Given the description of an element on the screen output the (x, y) to click on. 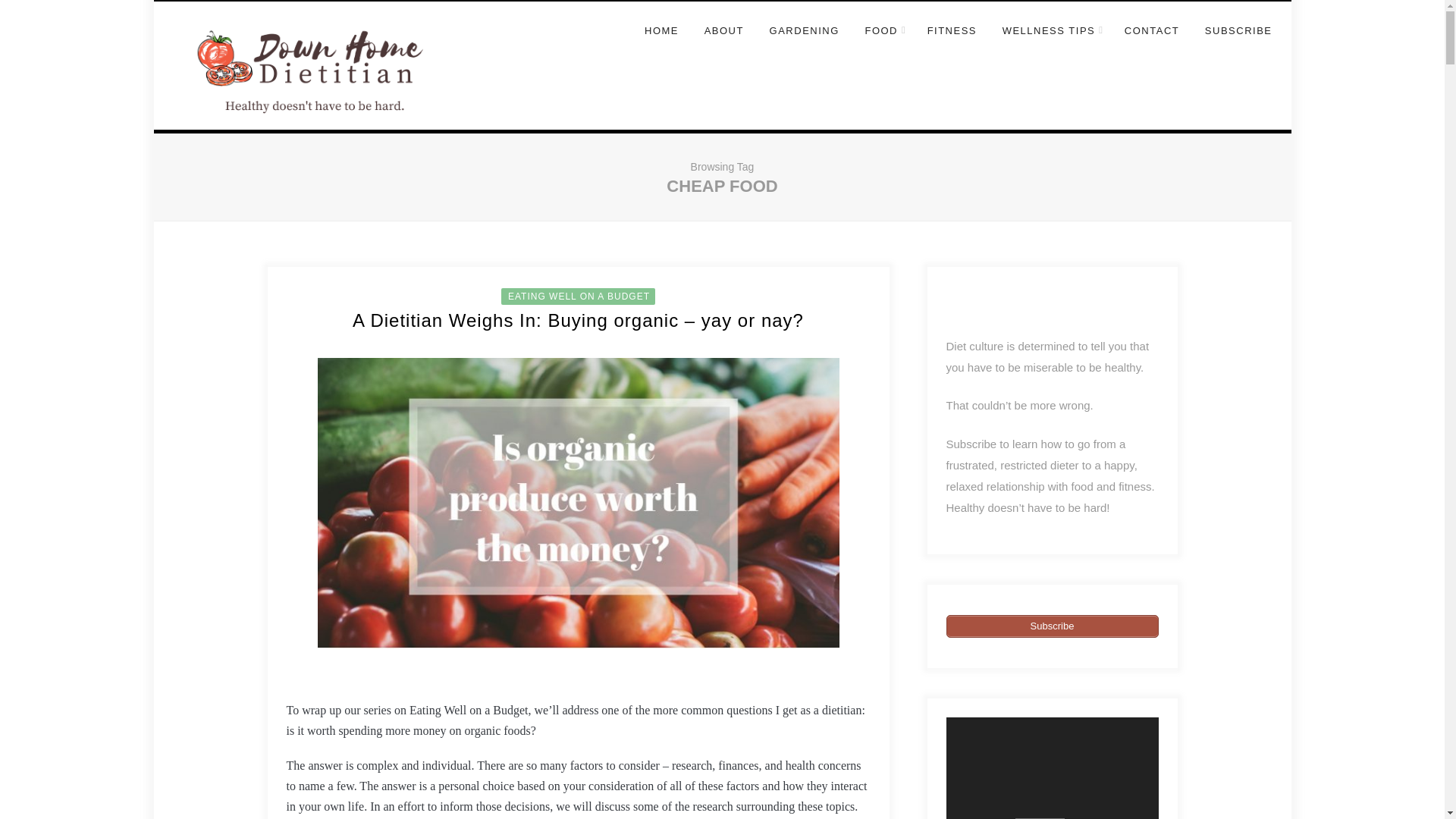
Mute (1114, 816)
FOOD (882, 26)
GARDENING (804, 26)
FITNESS (951, 26)
Play (966, 816)
HOME (667, 26)
WELLNESS TIPS (1050, 26)
ABOUT (724, 26)
